Given the description of an element on the screen output the (x, y) to click on. 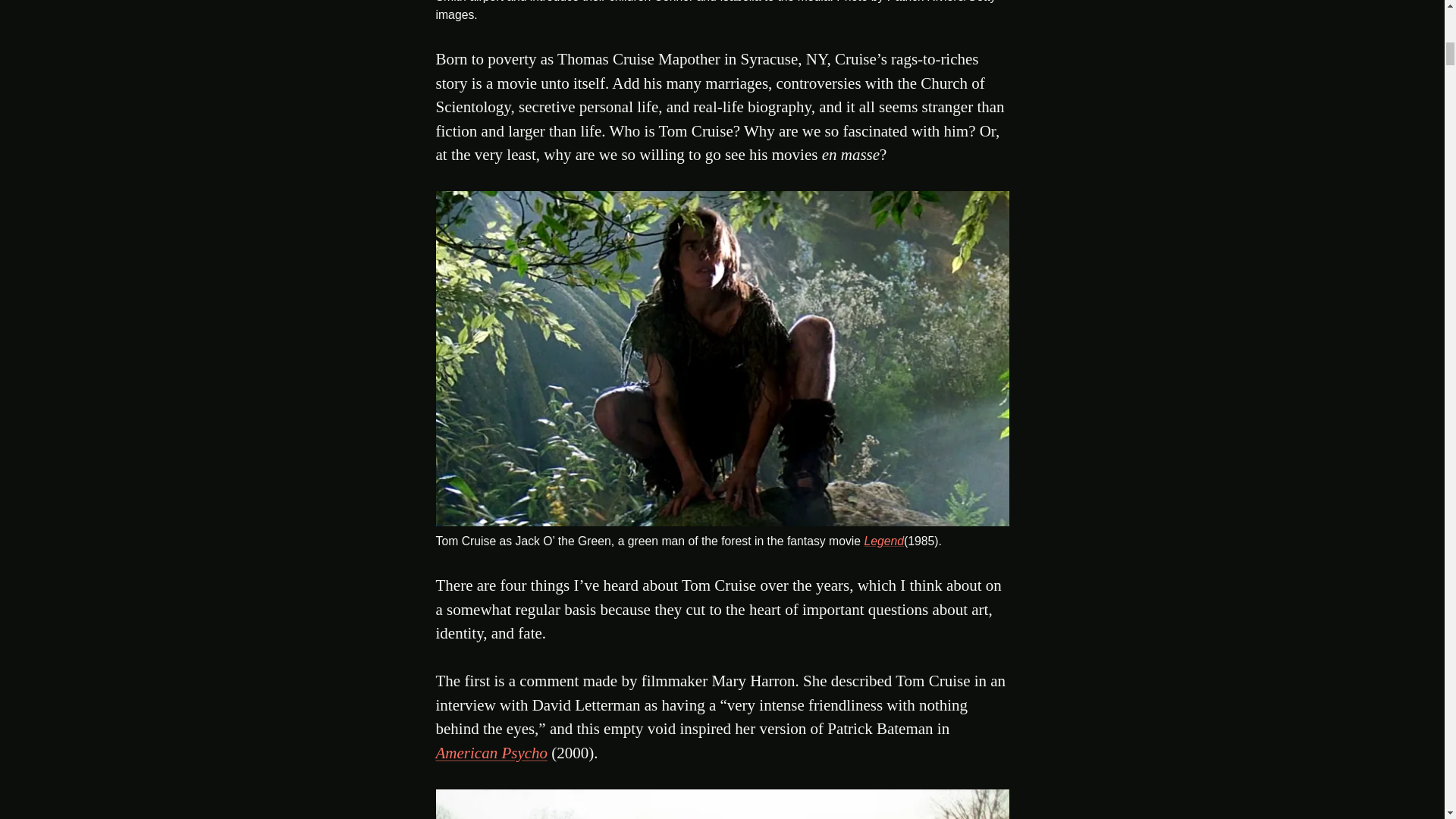
American Psycho (491, 752)
Legend (883, 540)
